Given the description of an element on the screen output the (x, y) to click on. 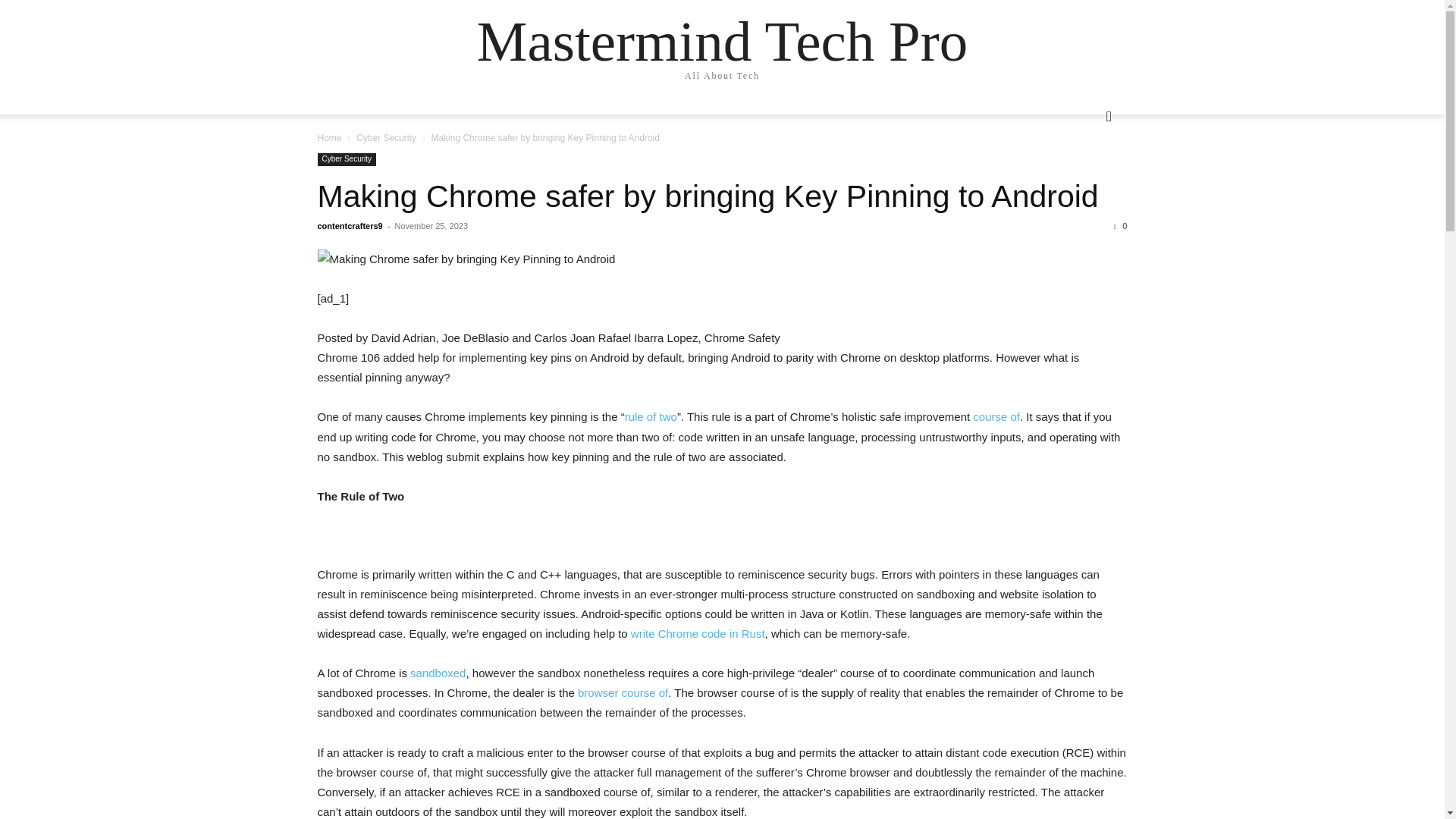
browser course of (623, 692)
rule of two (650, 416)
Making Chrome safer by bringing Key Pinning to Android (721, 259)
Search (1085, 177)
Mastermind Tech Pro (722, 41)
contentcrafters9 (349, 225)
Making Chrome safer by bringing Key Pinning to Android (707, 196)
View all posts in Cyber Security (386, 137)
write Chrome code in Rust (697, 633)
Making Chrome safer by bringing Key Pinning to Android (707, 196)
